Given the description of an element on the screen output the (x, y) to click on. 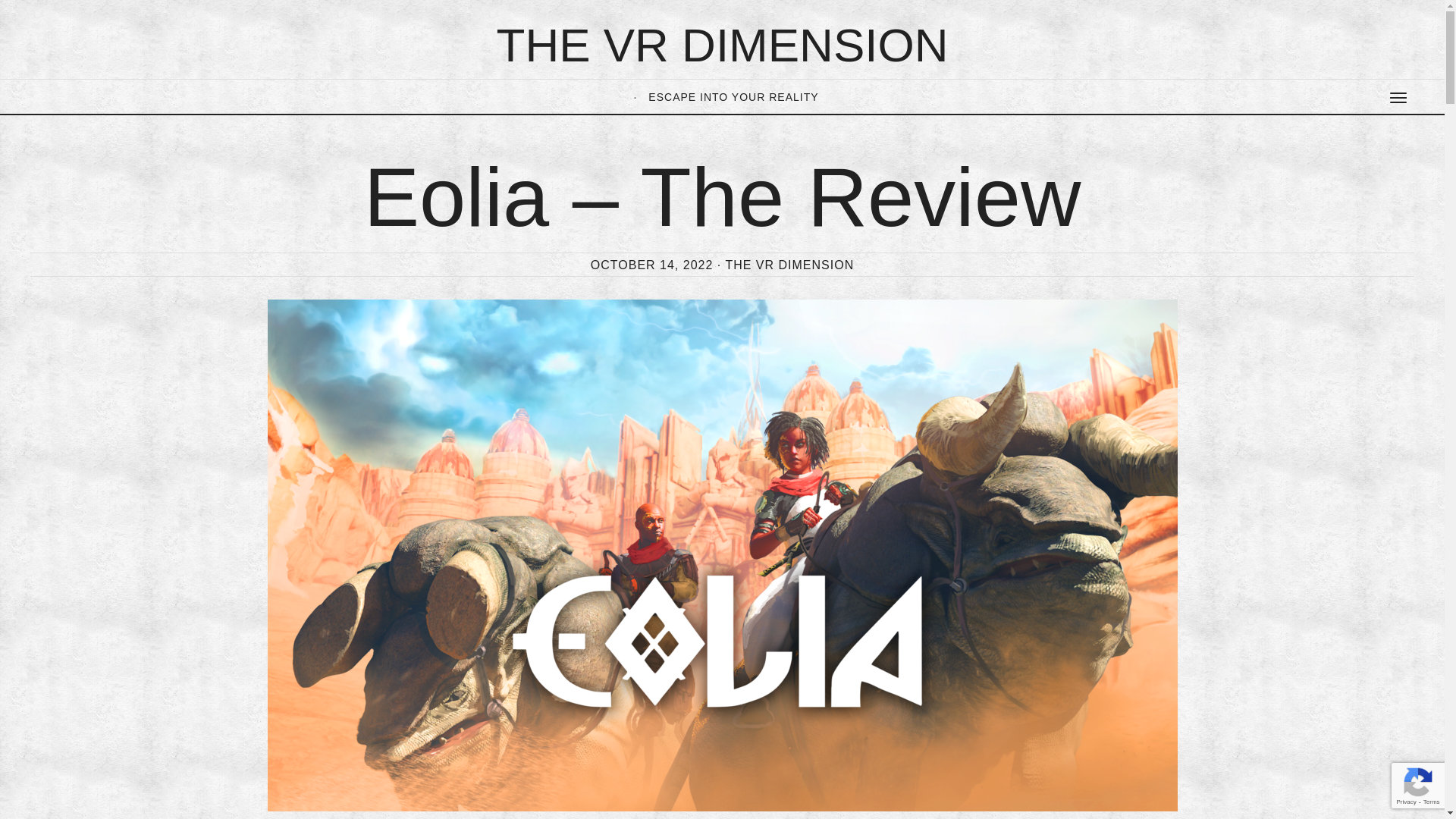
THE VR DIMENSION (722, 44)
